Given the description of an element on the screen output the (x, y) to click on. 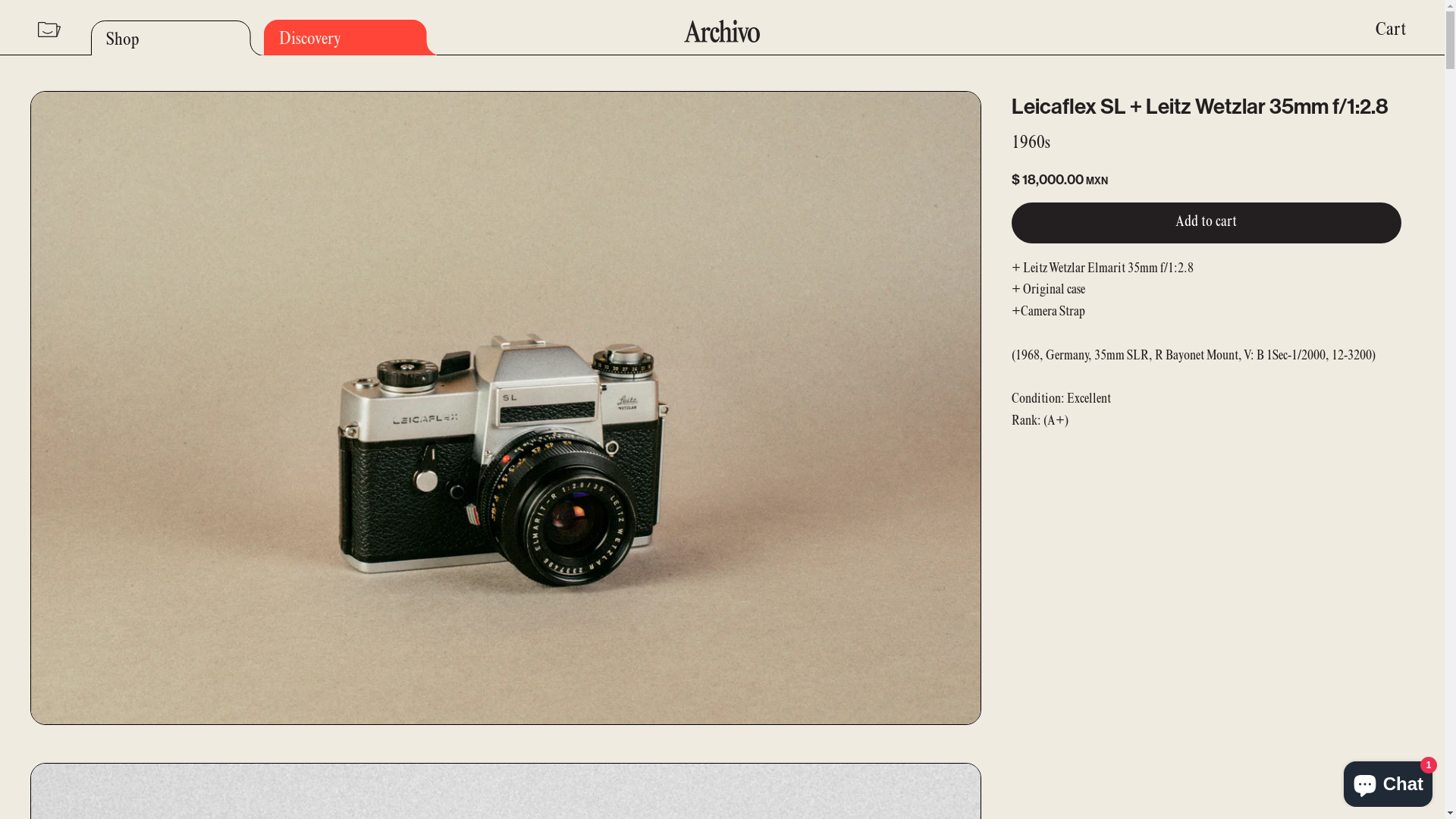
Shopify online store chat Element type: hover (1388, 780)
Shop Element type: text (177, 36)
Discovery Element type: text (349, 37)
Menu Element type: text (49, 30)
Cart
Cart Element type: text (1391, 30)
Add to cart Element type: text (1206, 222)
